Given the description of an element on the screen output the (x, y) to click on. 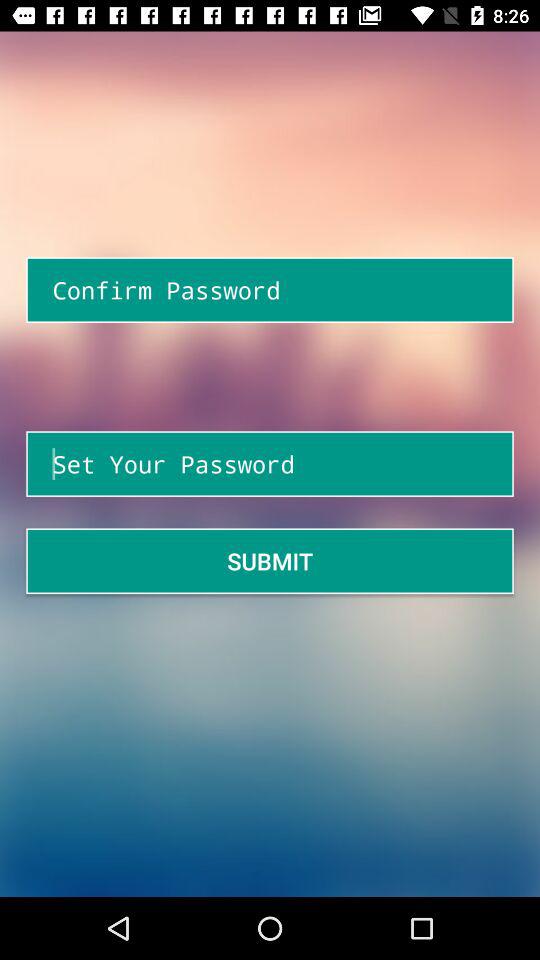
swipe to submit icon (269, 560)
